Given the description of an element on the screen output the (x, y) to click on. 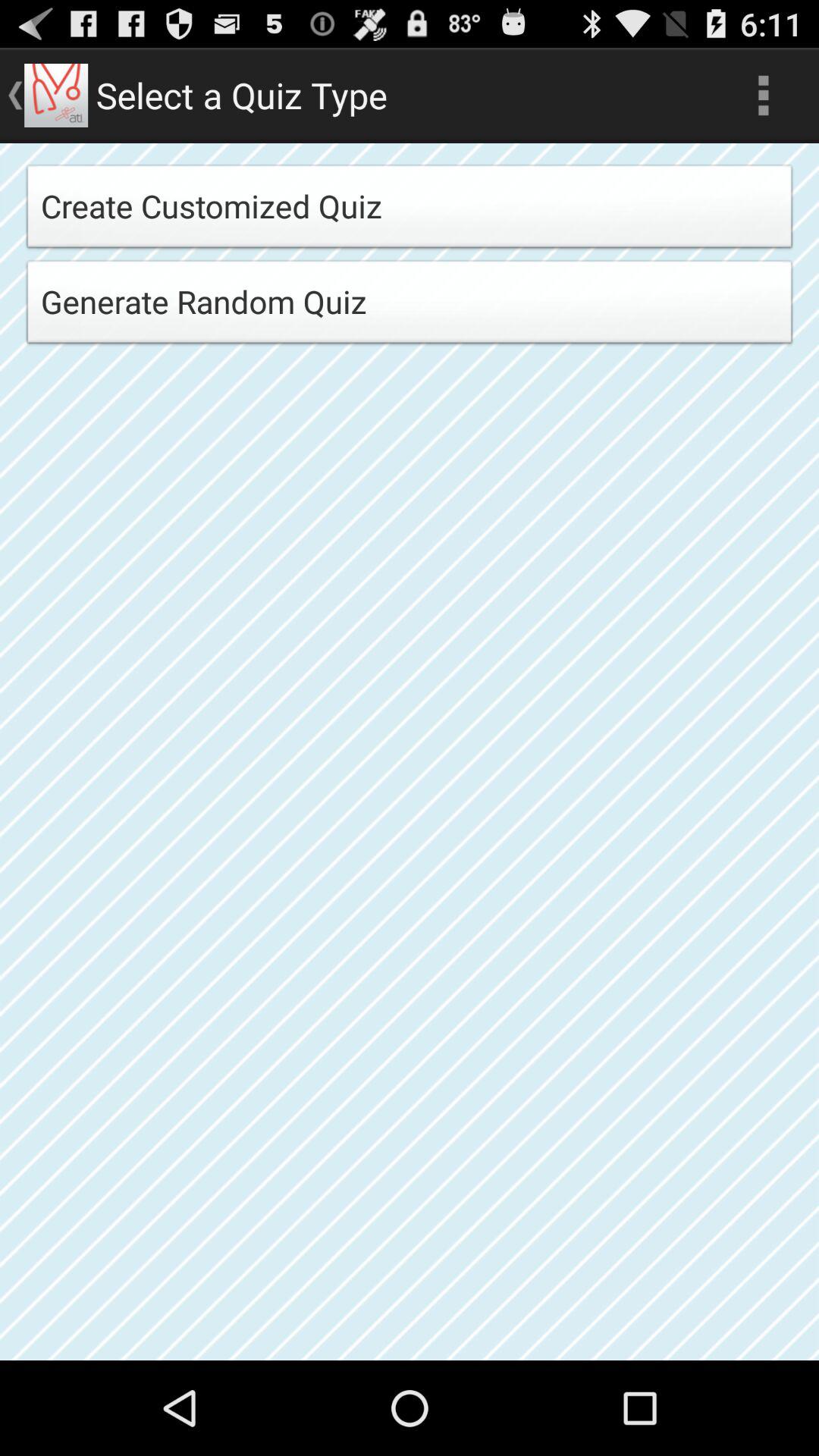
launch icon above the create customized quiz button (763, 95)
